Given the description of an element on the screen output the (x, y) to click on. 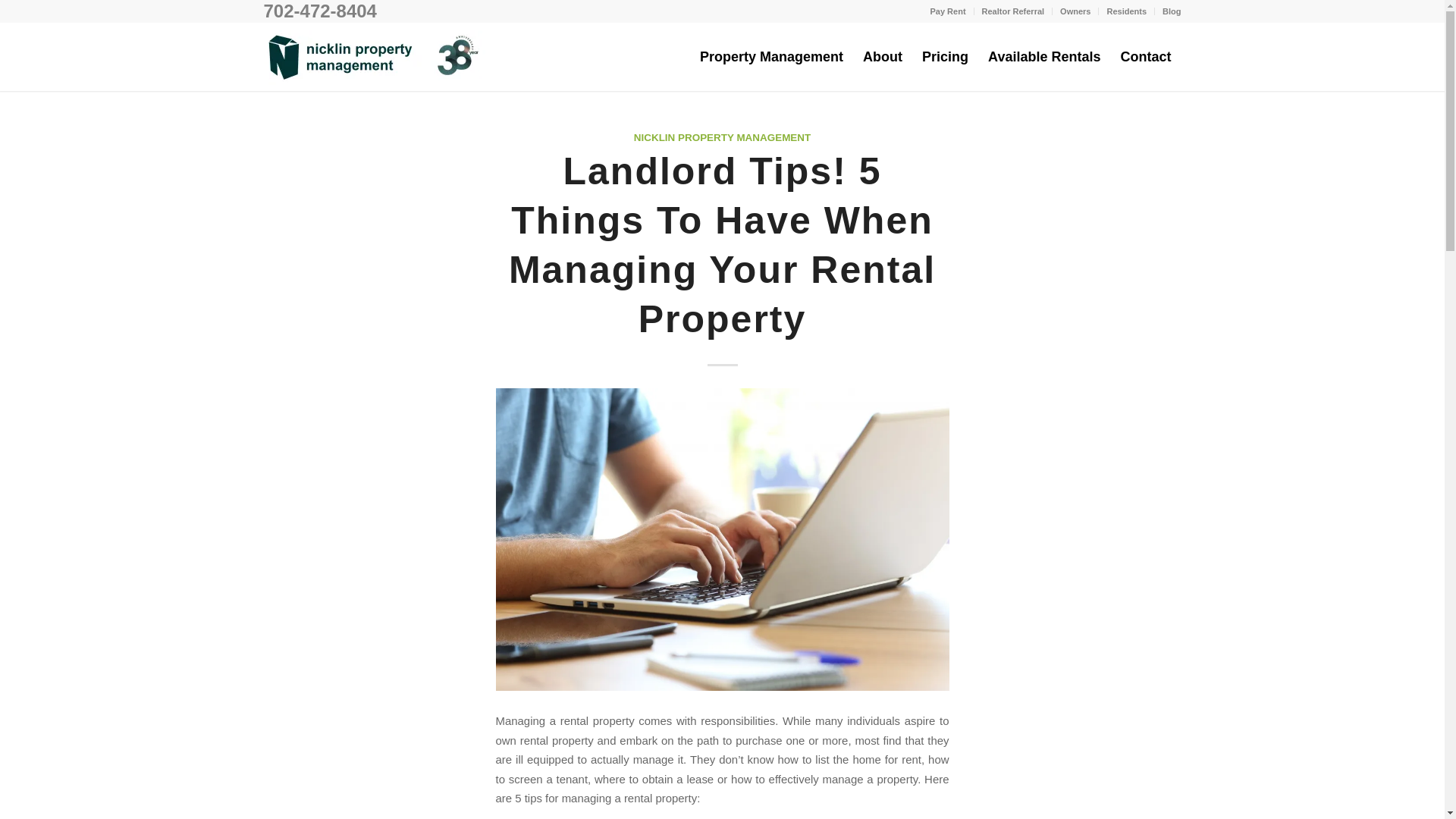
Pricing (945, 56)
Contact (1144, 56)
NICKLIN PROPERTY MANAGEMENT (721, 137)
Realtor Referral (1013, 11)
Available Rentals (1043, 56)
Residents (1126, 11)
Blog (1170, 11)
Pay Rent (947, 11)
Property Management (771, 56)
Owners (1074, 11)
